Given the description of an element on the screen output the (x, y) to click on. 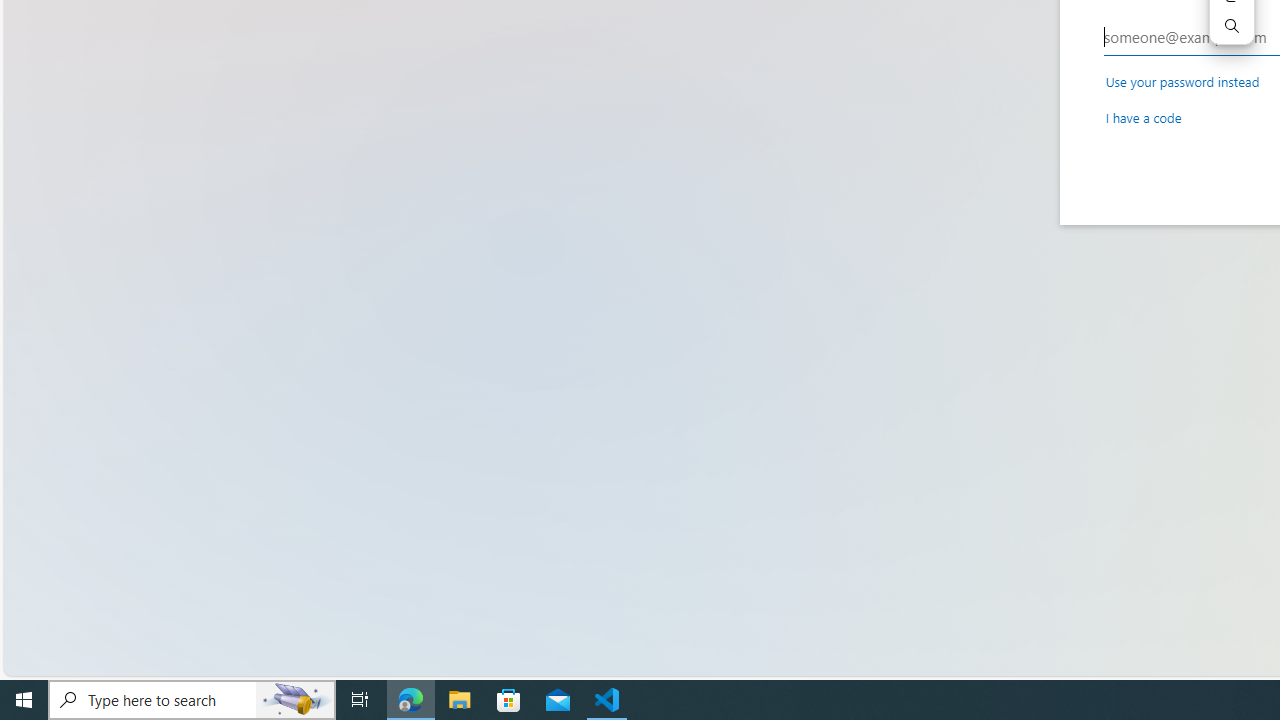
Use your password instead (1182, 81)
I have a code (1143, 116)
